Given the description of an element on the screen output the (x, y) to click on. 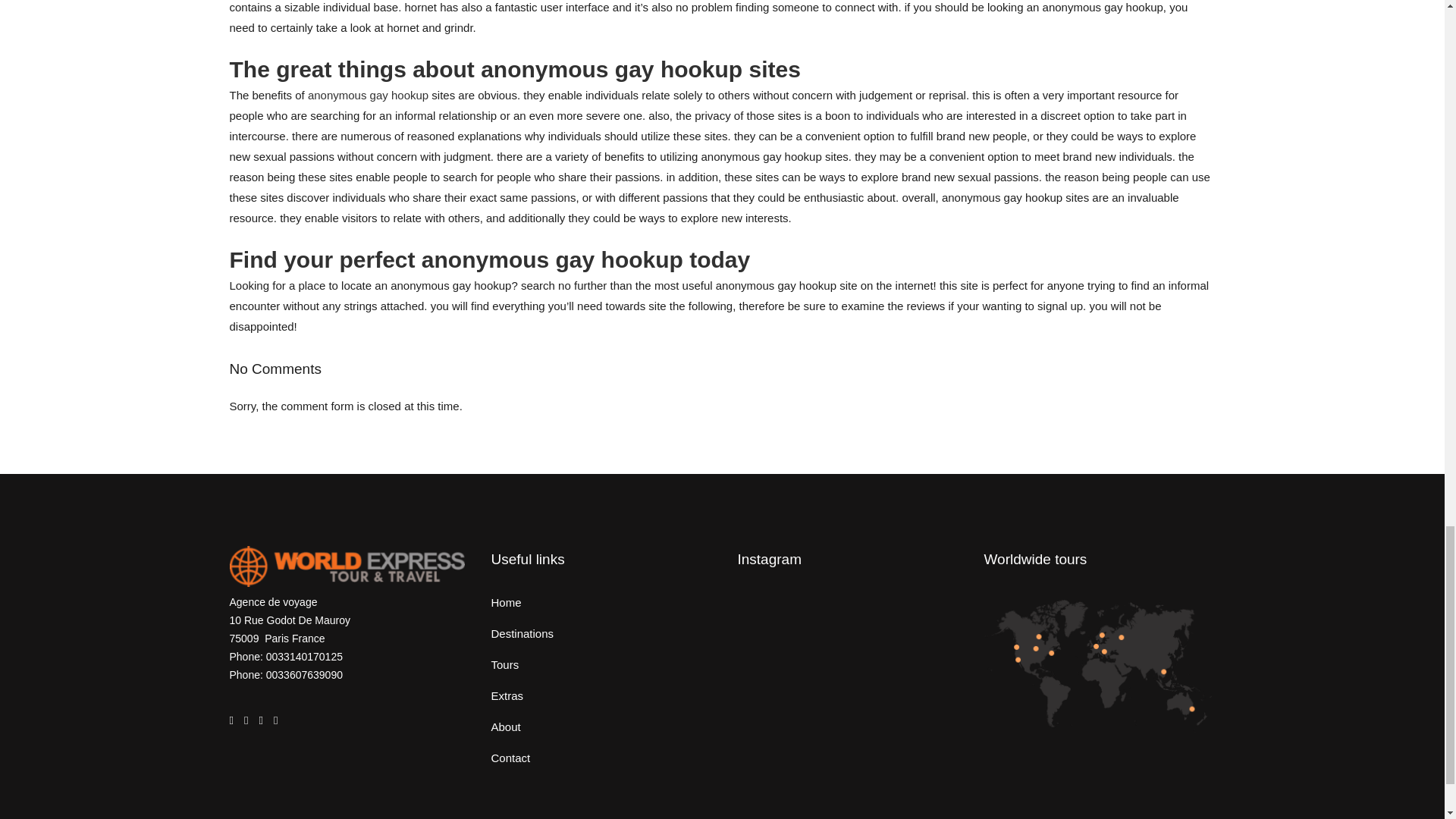
Destinations (603, 633)
Tours (603, 665)
Extras (603, 696)
Home (603, 602)
anonymous gay hookup (367, 94)
Contact (603, 758)
About (603, 727)
